Given the description of an element on the screen output the (x, y) to click on. 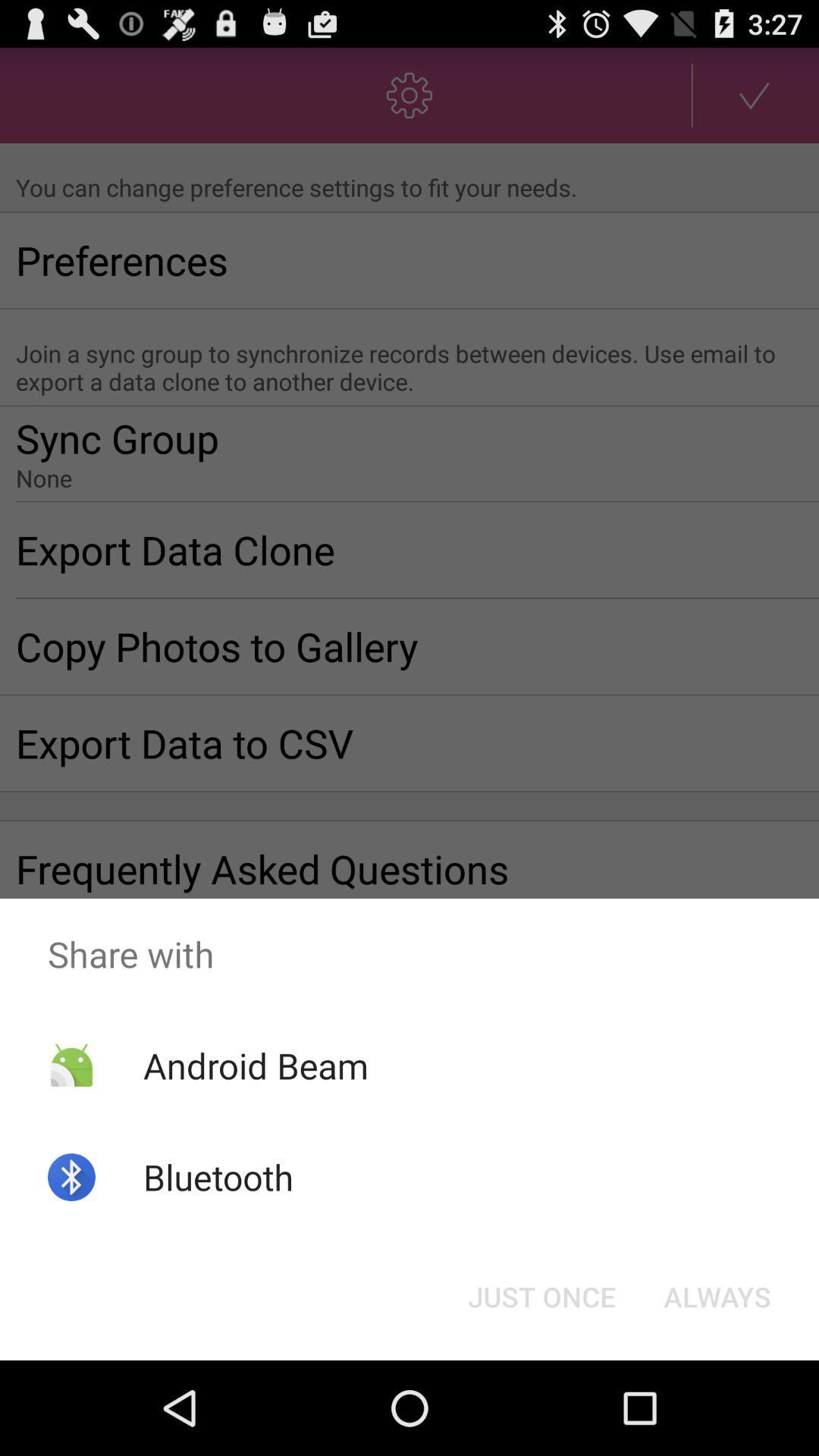
press icon to the left of the always (541, 1296)
